Given the description of an element on the screen output the (x, y) to click on. 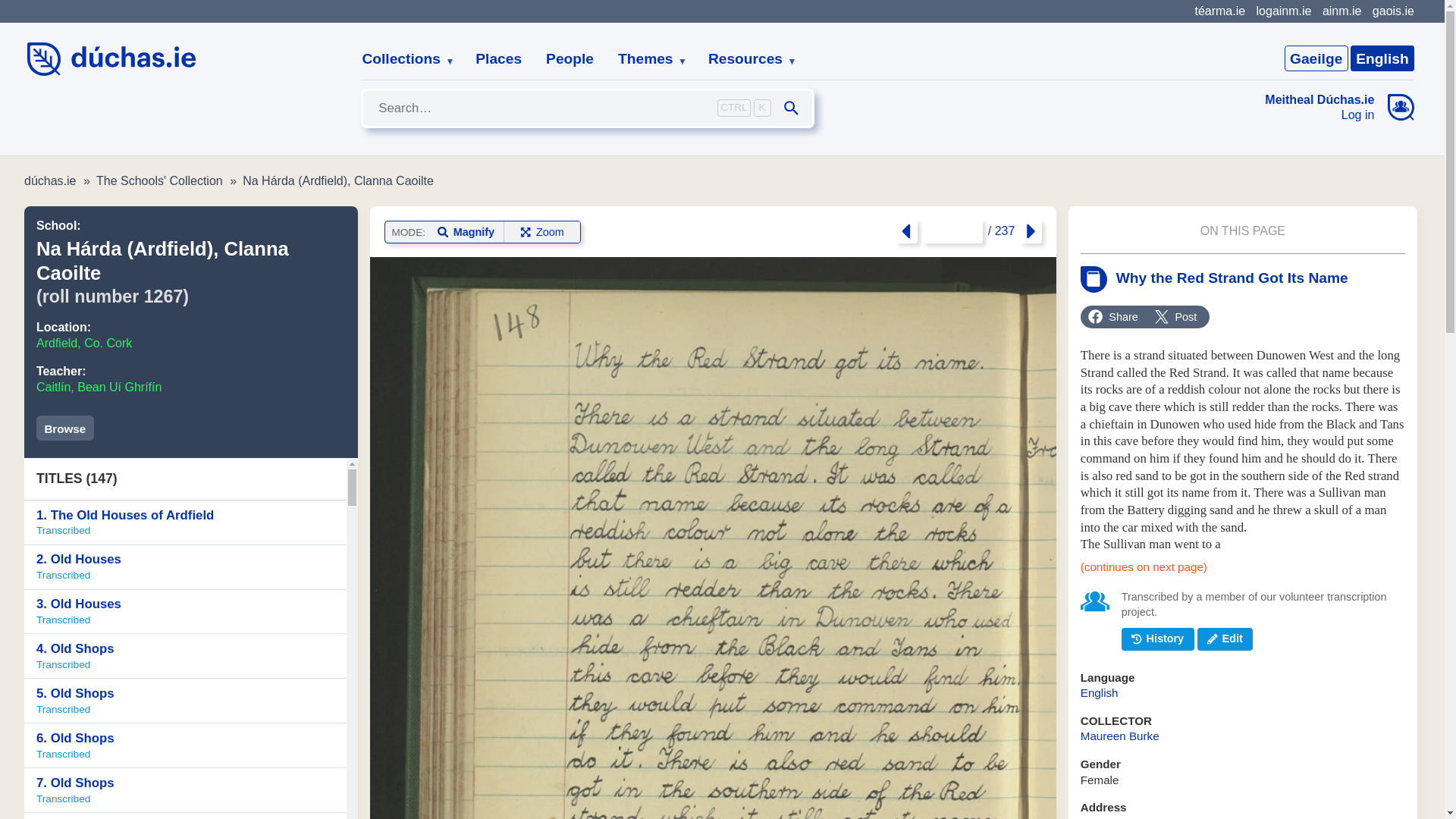
Resources (745, 59)
People (569, 58)
logainm.ie (1283, 11)
Gaeilge (1316, 58)
ainm.ie (1341, 11)
The Schools' Collection (159, 180)
Places (498, 58)
Collections (401, 59)
English (185, 522)
Browse (1382, 58)
Log in (65, 427)
Themes (1319, 114)
Ardfield, Co. Cork (646, 59)
